Given the description of an element on the screen output the (x, y) to click on. 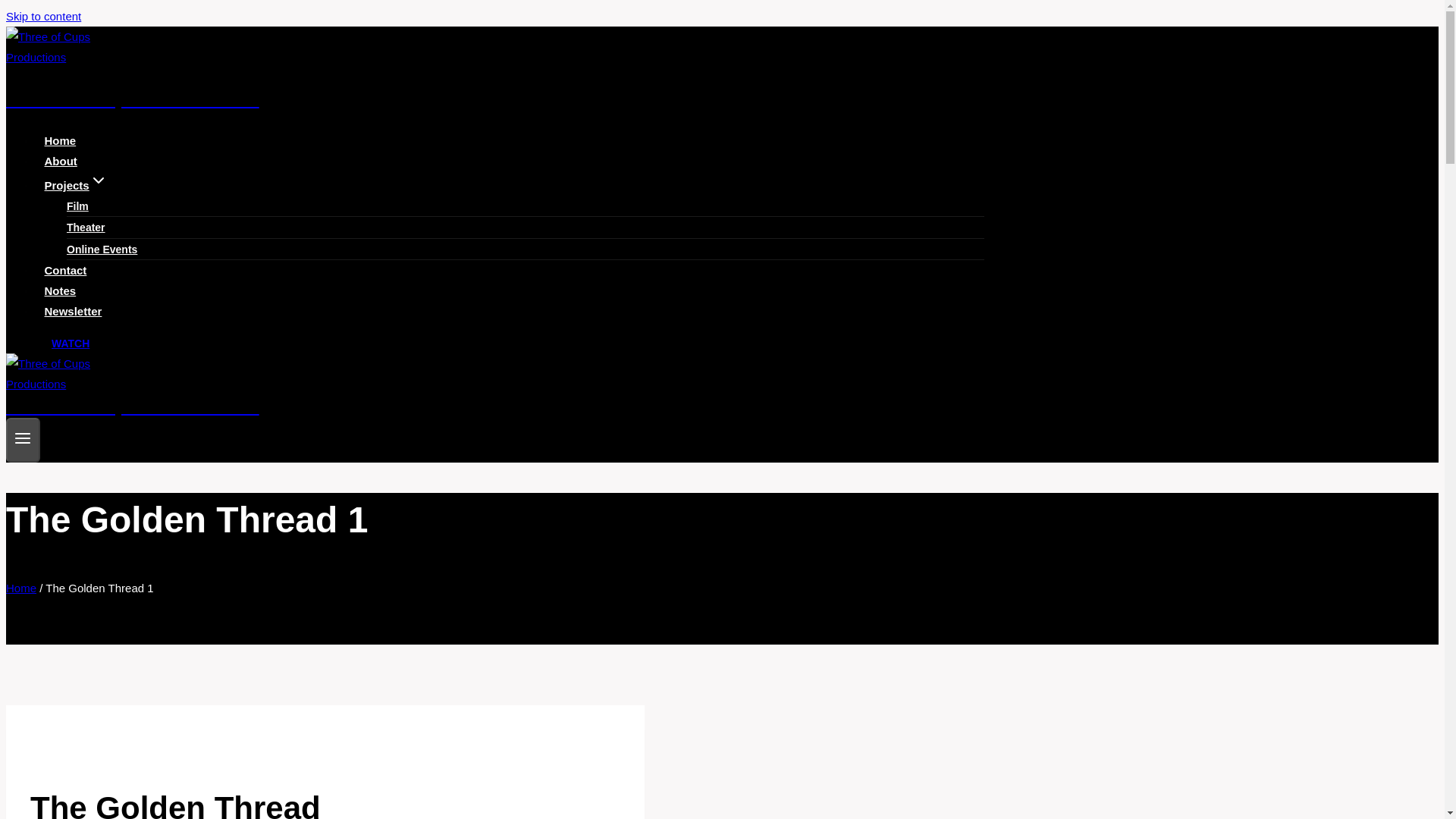
TOGGLE MENU (22, 438)
Skip to content (43, 15)
TOGGLE MENU (22, 439)
Theater (85, 227)
Home (20, 587)
About (60, 161)
Newsletter (73, 311)
Expand (97, 180)
Three of Cups Productions (494, 80)
Three of Cups Productions (494, 397)
Film (77, 205)
Contact (65, 270)
Home (60, 140)
Online Events (101, 249)
Skip to content (43, 15)
